Given the description of an element on the screen output the (x, y) to click on. 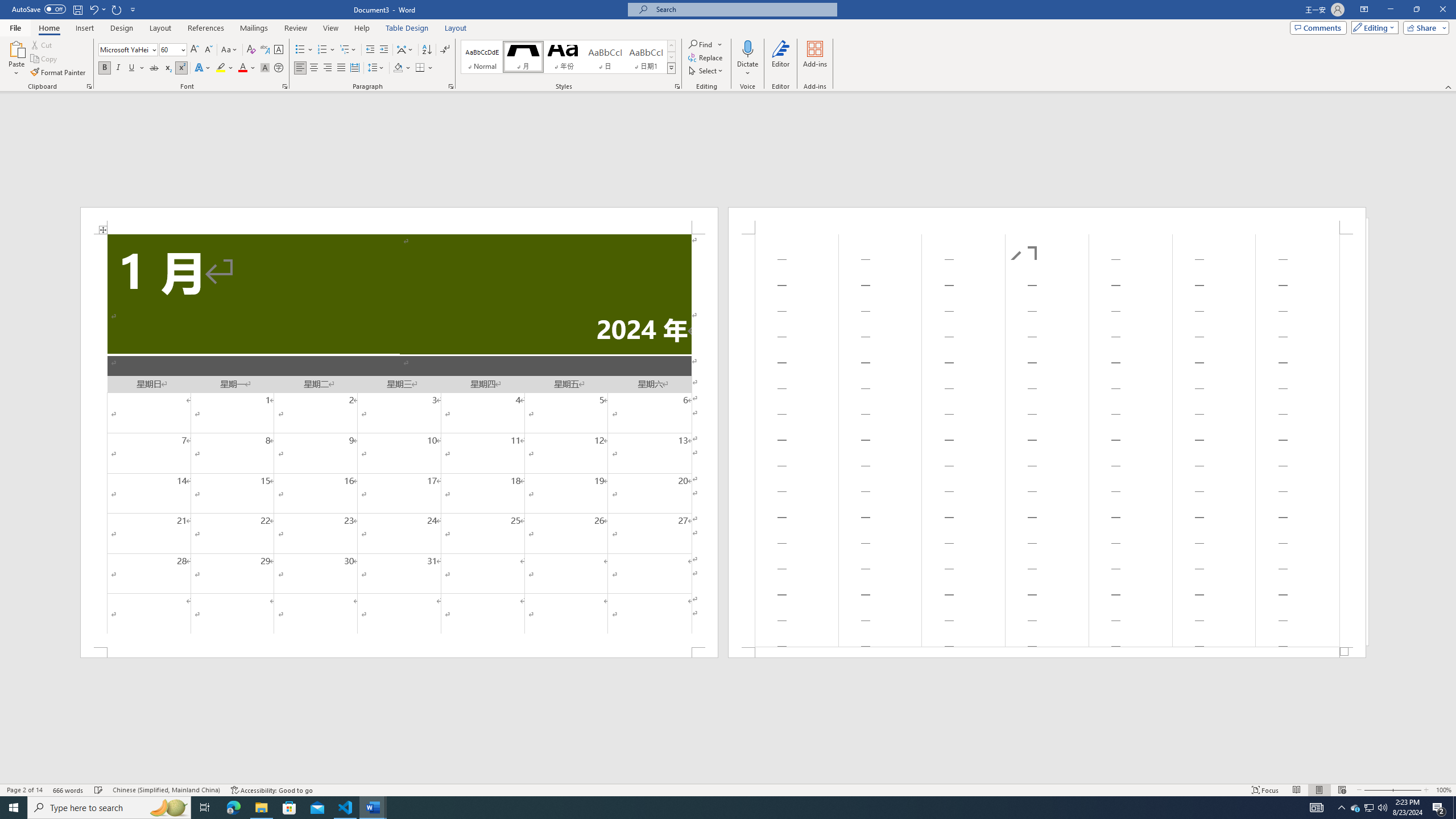
Spelling and Grammar Check Checking (98, 790)
Sort... (426, 49)
Undo Superscript (92, 9)
Repeat Doc Close (117, 9)
Page 2 content (1046, 440)
Paste (16, 48)
Font... (285, 85)
Bullets (300, 49)
Increase Indent (383, 49)
Borders (419, 67)
Grow Font (193, 49)
Home (48, 28)
Save (77, 9)
